Given the description of an element on the screen output the (x, y) to click on. 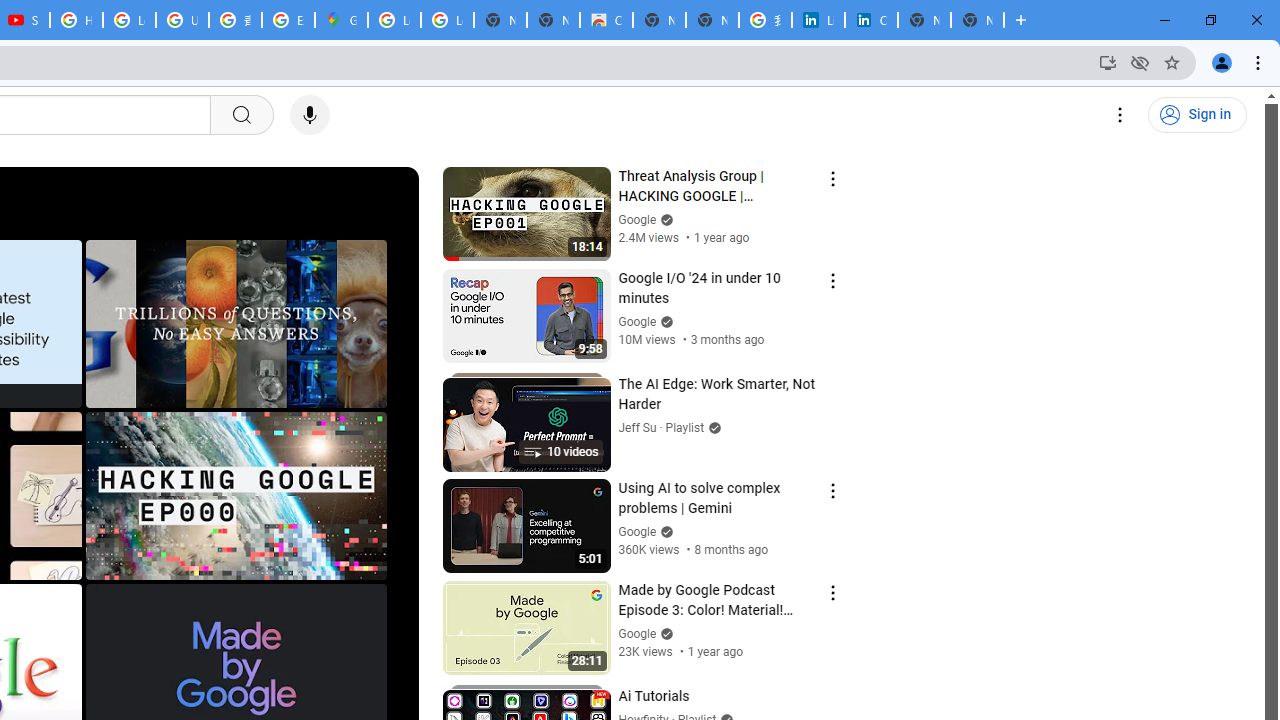
New Tab (977, 20)
